Given the description of an element on the screen output the (x, y) to click on. 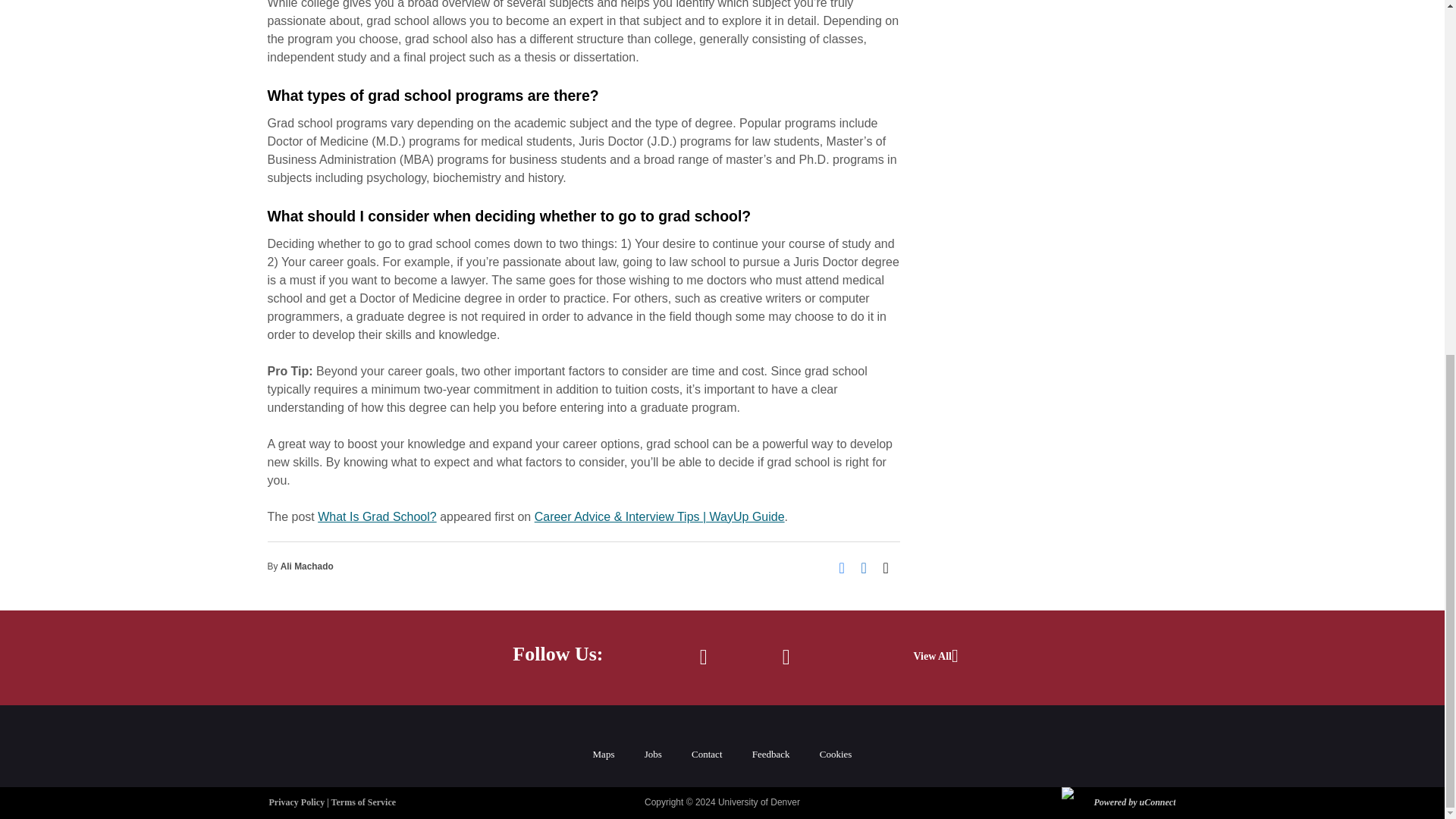
Click to share on LinkedIn (868, 566)
Interactive Map and Printable Map PDFs (603, 754)
University of Denver Feedback Form (771, 754)
University of Denver Feedback Form (835, 754)
Facebook (702, 657)
Jobs at the University of Denver (653, 754)
Click to share on Facebook (846, 566)
Contacting the Unviersity of Denver (706, 754)
Instagram (785, 657)
Click to share on Twitter (889, 566)
